Given the description of an element on the screen output the (x, y) to click on. 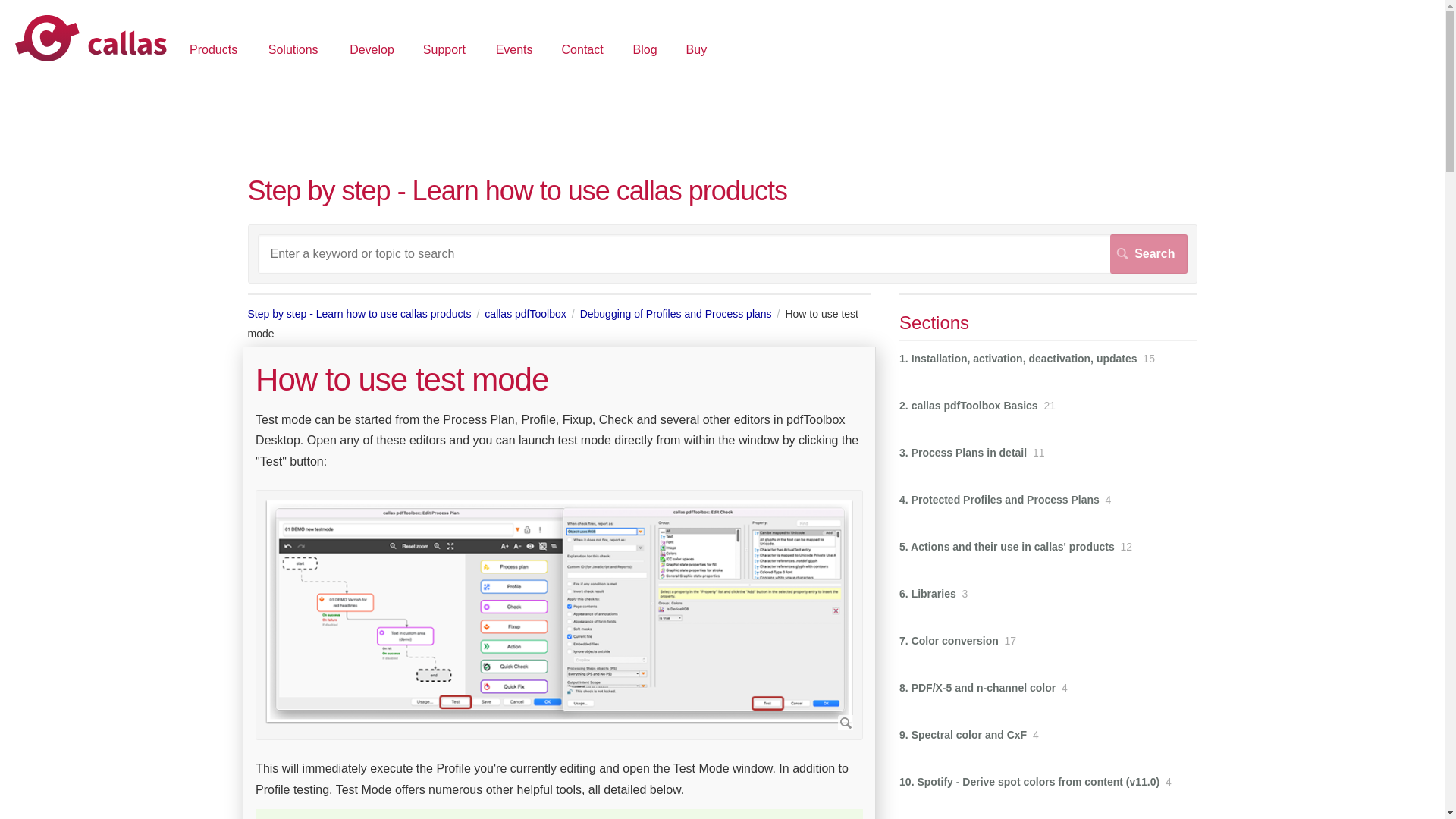
Products (215, 51)
Search (1147, 253)
Search (1147, 253)
Solutions (295, 51)
Products (215, 51)
Develop (372, 51)
callas software (90, 38)
Support (445, 51)
Solutions (295, 51)
